Given the description of an element on the screen output the (x, y) to click on. 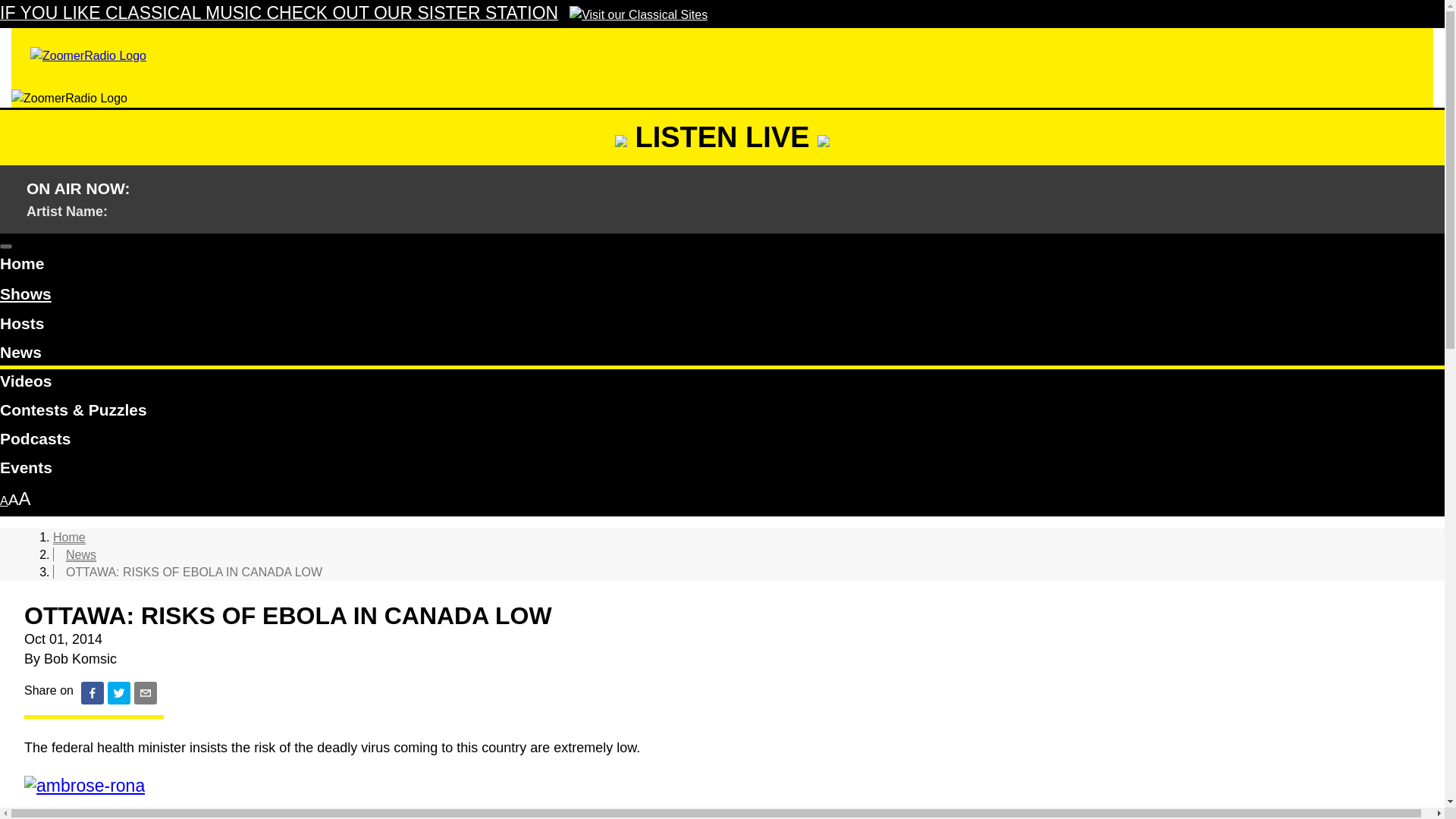
News (80, 554)
Hosts (722, 326)
LISTEN LIVE (722, 136)
IF YOU LIKE CLASSICAL MUSIC CHECK OUT OUR SISTER STATION (353, 14)
OTTAWA: RISKS OF EBOLA IN CANADA LOW (193, 571)
Shows (25, 294)
Events (722, 469)
Home (68, 537)
News (722, 354)
Home (722, 265)
